Given the description of an element on the screen output the (x, y) to click on. 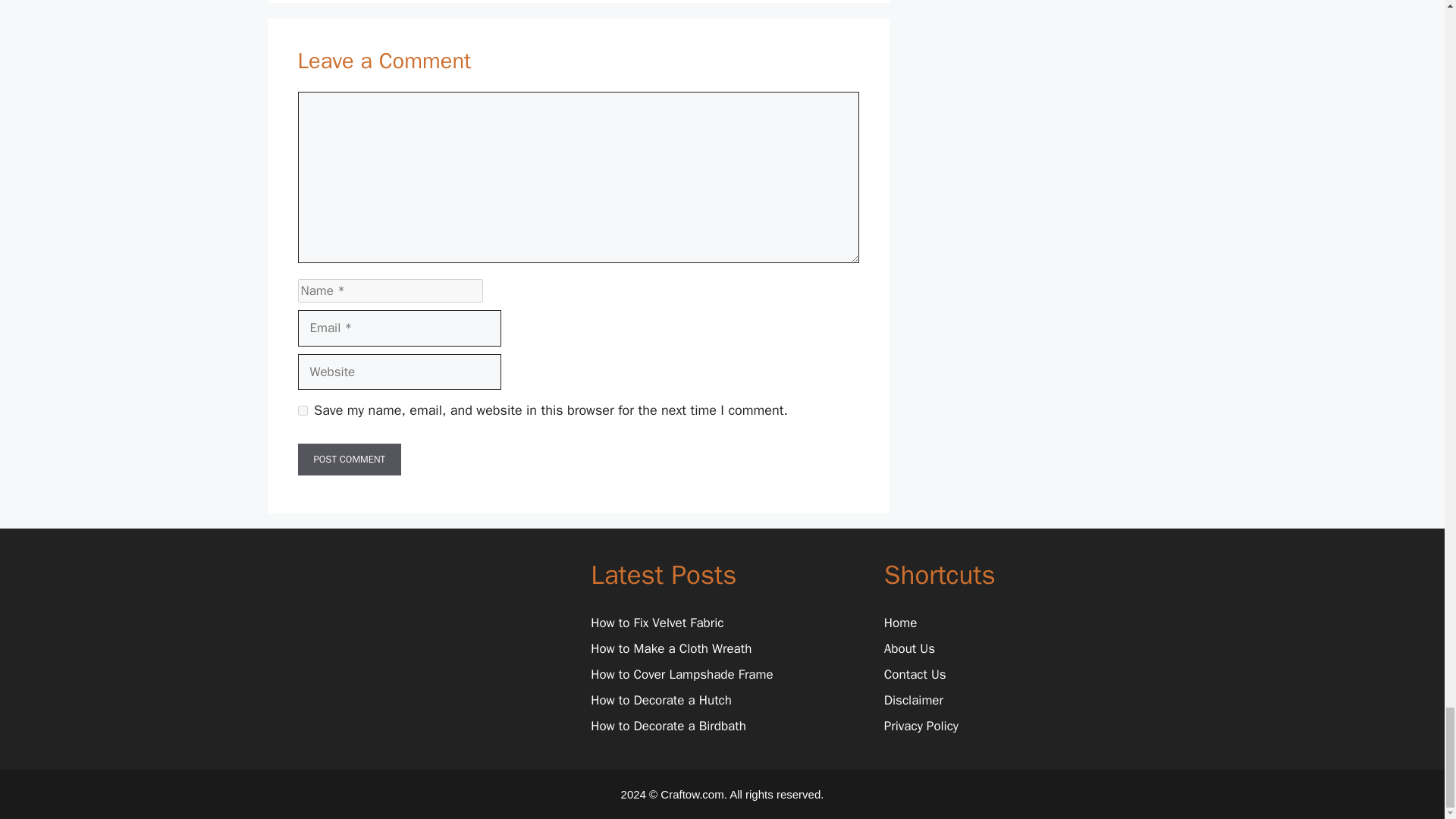
Disclaimer (913, 700)
How to Decorate a Hutch (661, 700)
yes (302, 410)
How to Make a Cloth Wreath (671, 648)
Privacy Policy (920, 725)
Contact Us (914, 674)
About Us (908, 648)
Post Comment (349, 459)
How to Cover Lampshade Frame (682, 674)
Home (900, 622)
